Given the description of an element on the screen output the (x, y) to click on. 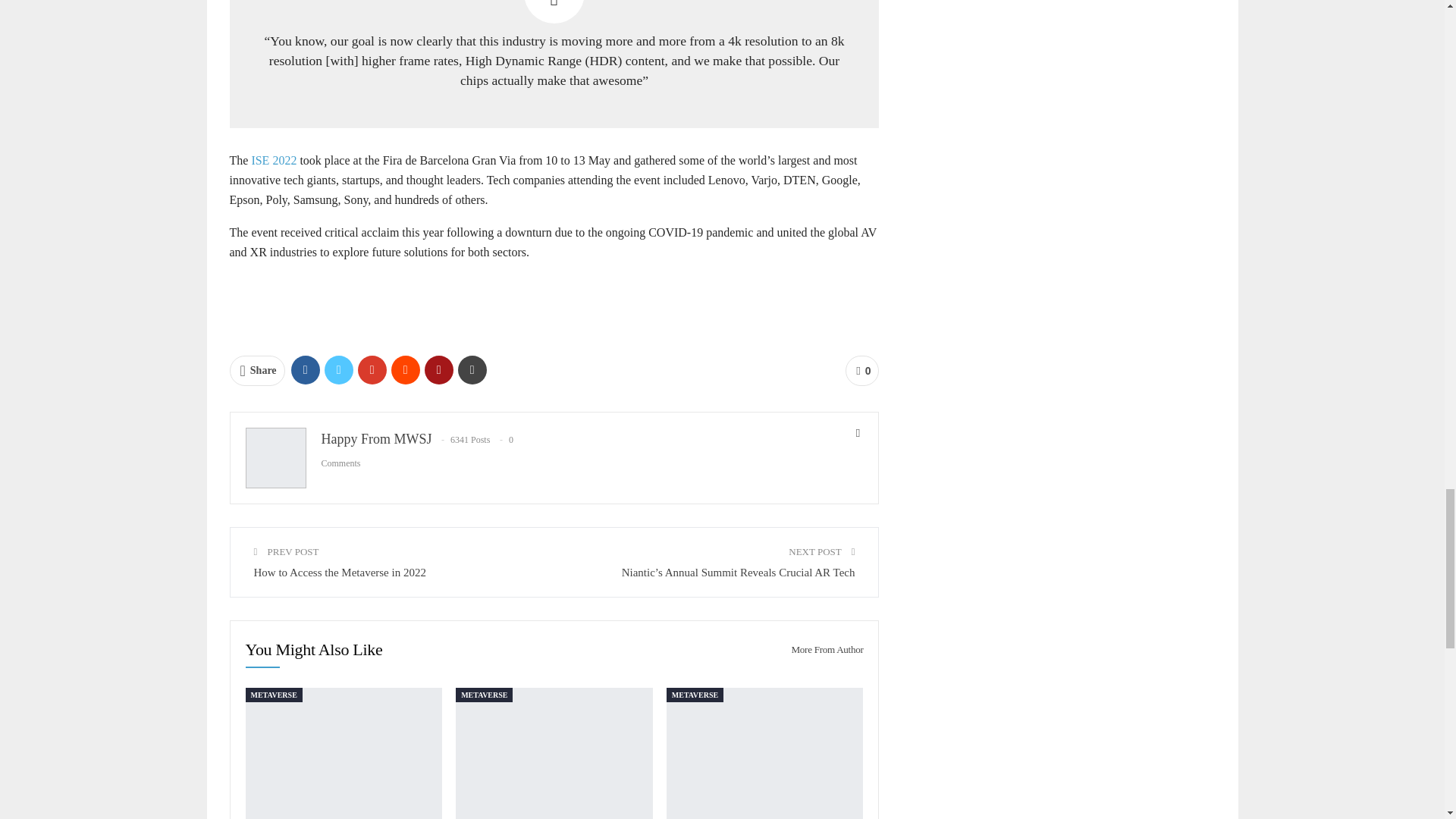
ISE 2022 (273, 160)
Meta Removes Horizon Workrooms Collaboration Features (553, 753)
Big XR News from Apple, IDC, Innoactive, and HPE (344, 753)
The Top Immersive Retail and Ecommerce Vendors in 2024 (764, 753)
0 (862, 370)
Happy From MWSJ (376, 438)
